Given the description of an element on the screen output the (x, y) to click on. 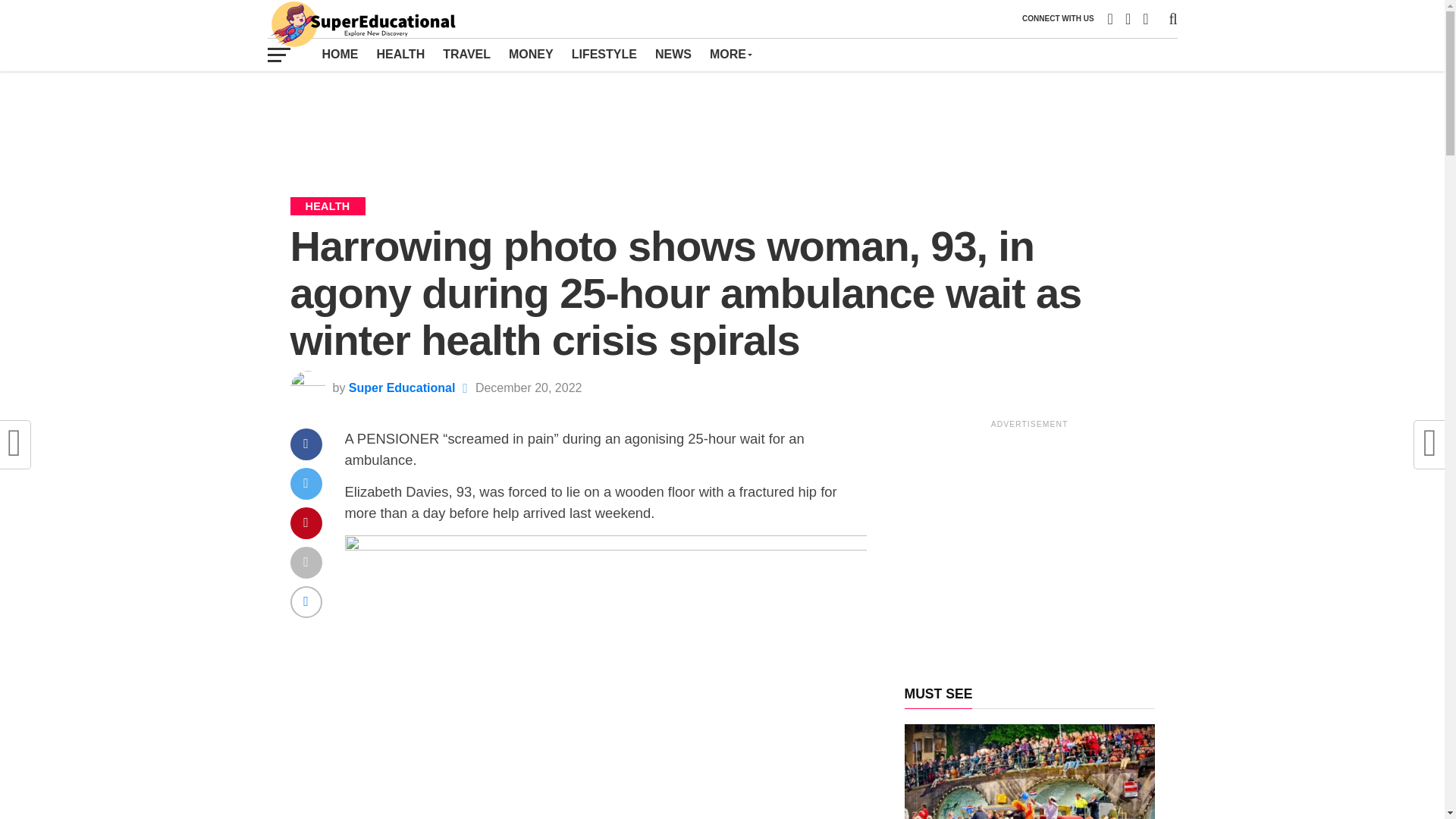
HOME (339, 54)
Posts by Super Educational (401, 387)
MONEY (530, 54)
NEWS (673, 54)
TRAVEL (466, 54)
LIFESTYLE (604, 54)
HEALTH (399, 54)
MORE (730, 54)
